Given the description of an element on the screen output the (x, y) to click on. 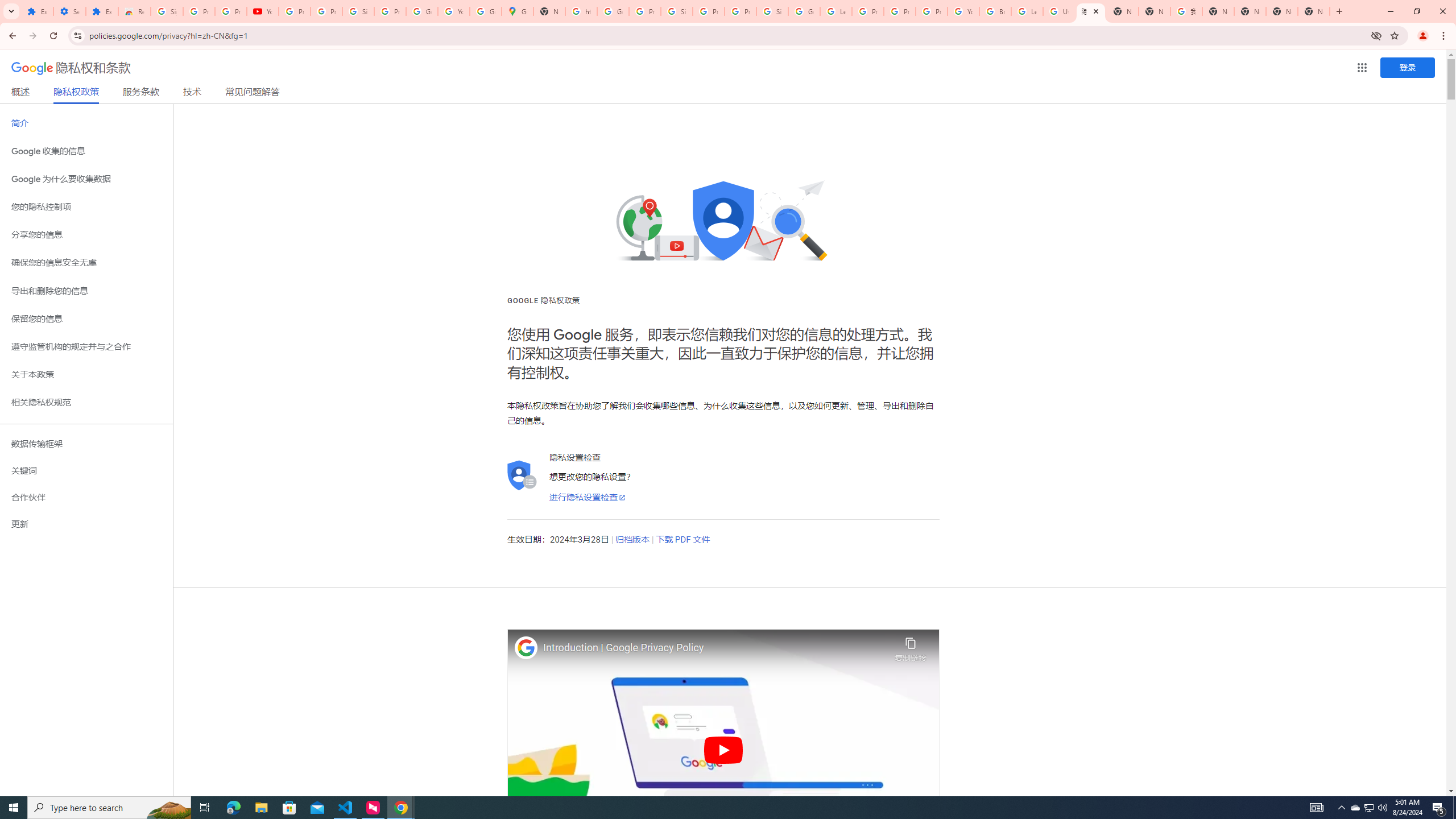
Privacy Help Center - Policies Help (899, 11)
Privacy Help Center - Policies Help (868, 11)
